Given the description of an element on the screen output the (x, y) to click on. 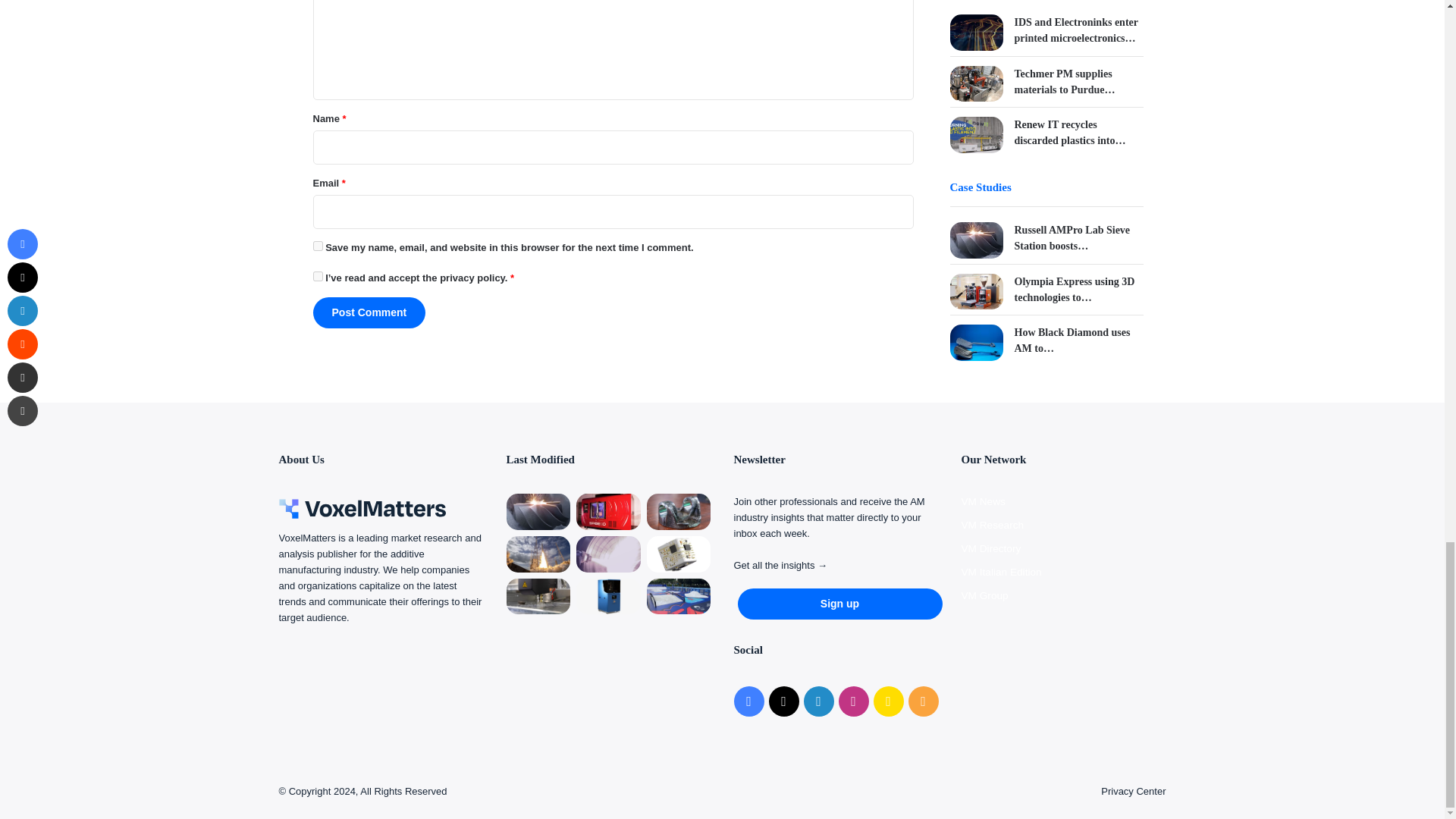
Post Comment (369, 312)
on (317, 276)
Sign up (839, 603)
yes (317, 245)
